Given the description of an element on the screen output the (x, y) to click on. 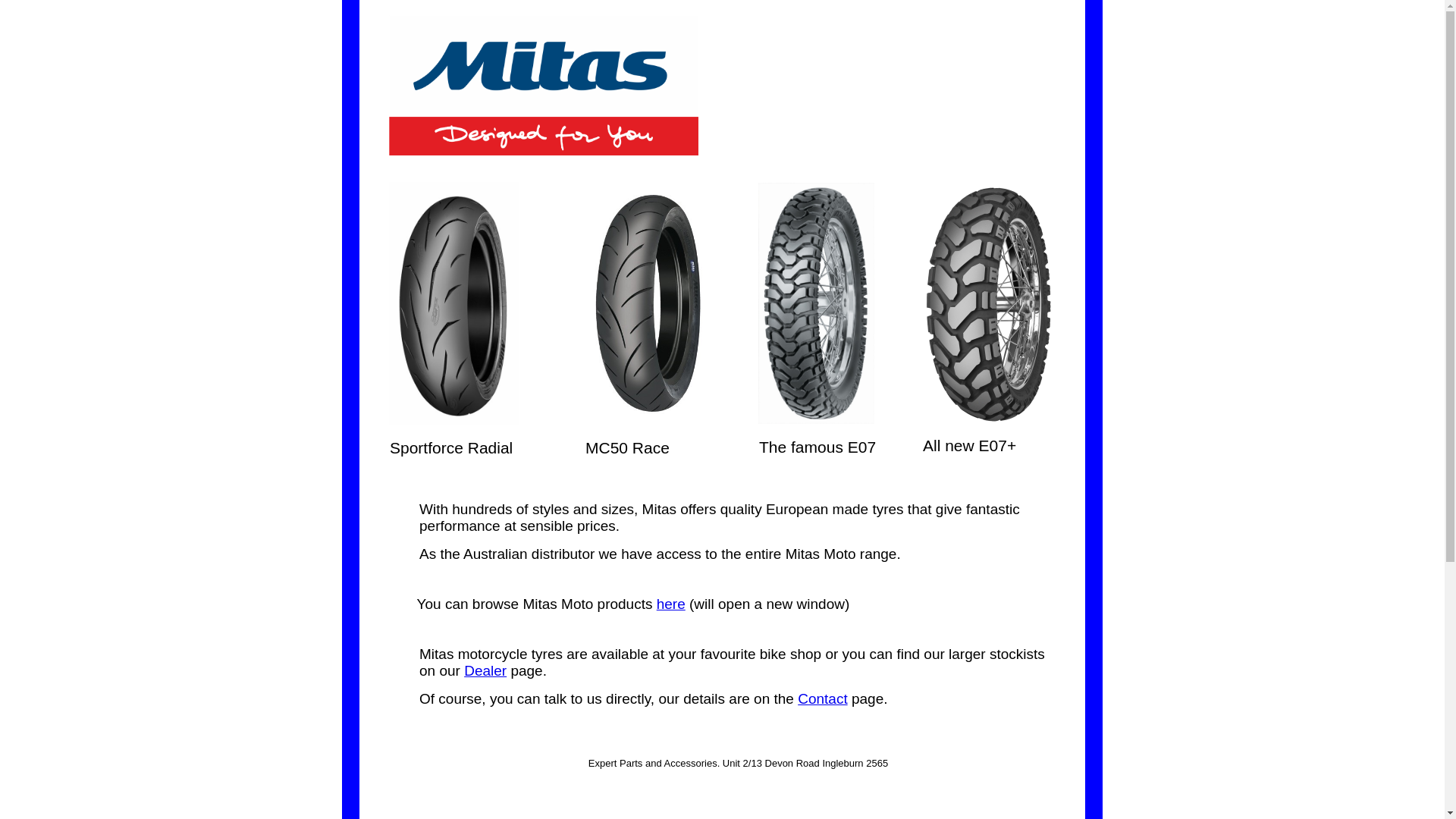
Dealer Element type: text (485, 670)
Contact Element type: text (822, 698)
here Element type: text (670, 603)
